Given the description of an element on the screen output the (x, y) to click on. 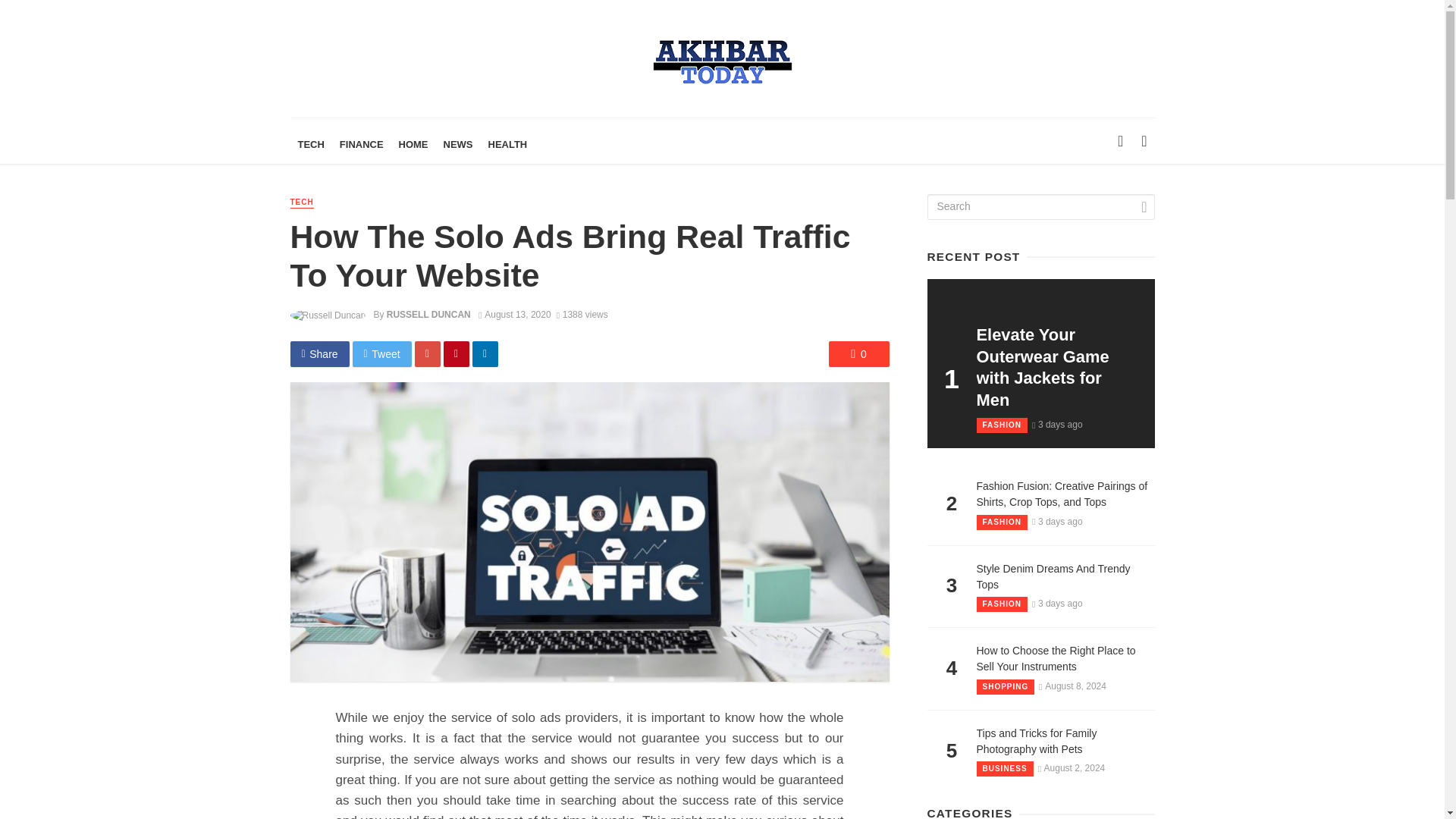
FINANCE (361, 144)
NEWS (457, 144)
Posts by Russell Duncan (428, 314)
HOME (413, 144)
Share on Twitter (382, 353)
Share (319, 353)
Share on Pinterest (456, 353)
HEALTH (507, 144)
Share on Facebook (319, 353)
Tweet (382, 353)
